Given the description of an element on the screen output the (x, y) to click on. 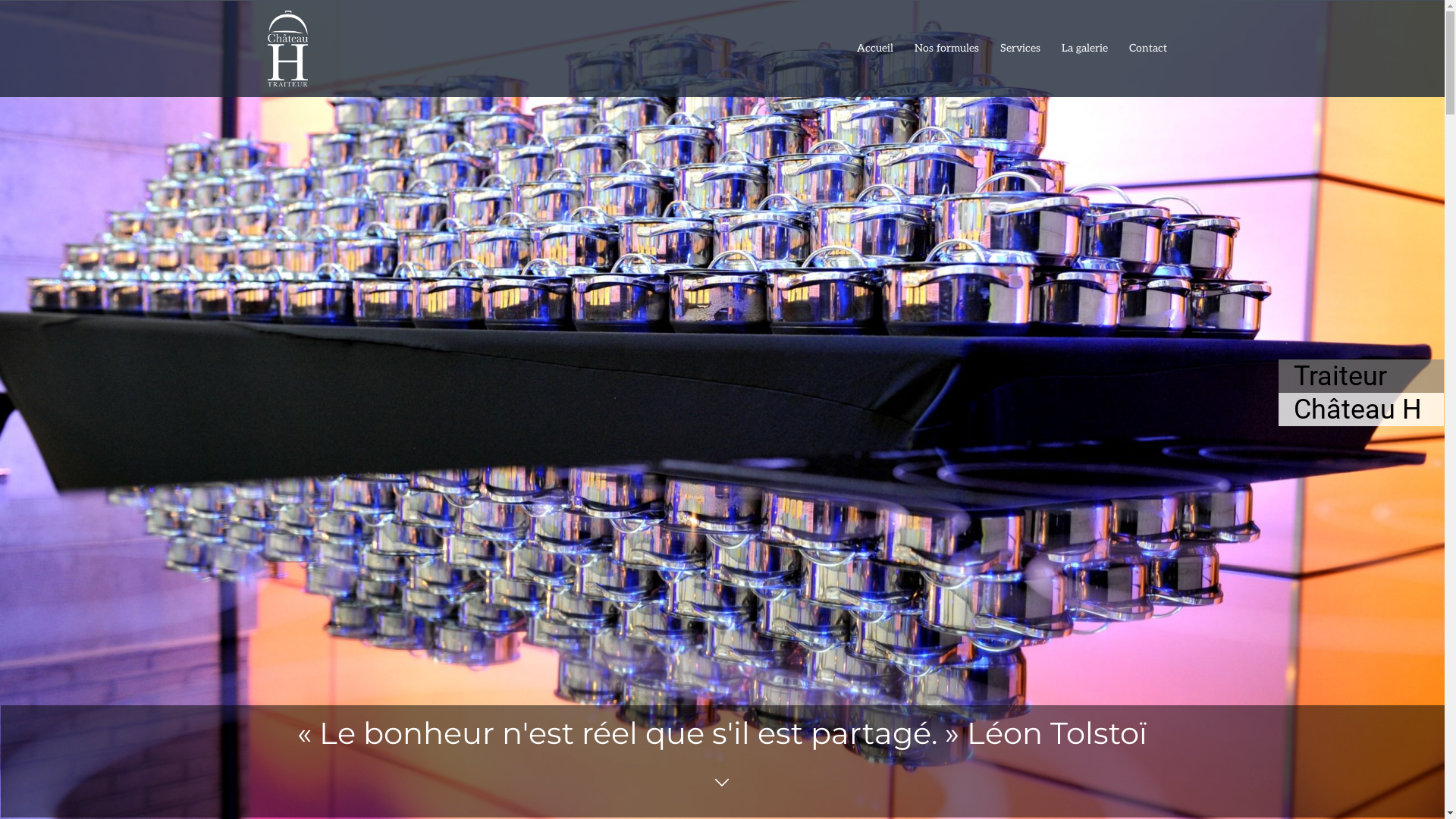
Nos formules Element type: text (946, 48)
Contact Element type: text (1146, 48)
La galerie Element type: text (1084, 48)
Services Element type: text (1019, 48)
Accueil Element type: text (874, 48)
